Given the description of an element on the screen output the (x, y) to click on. 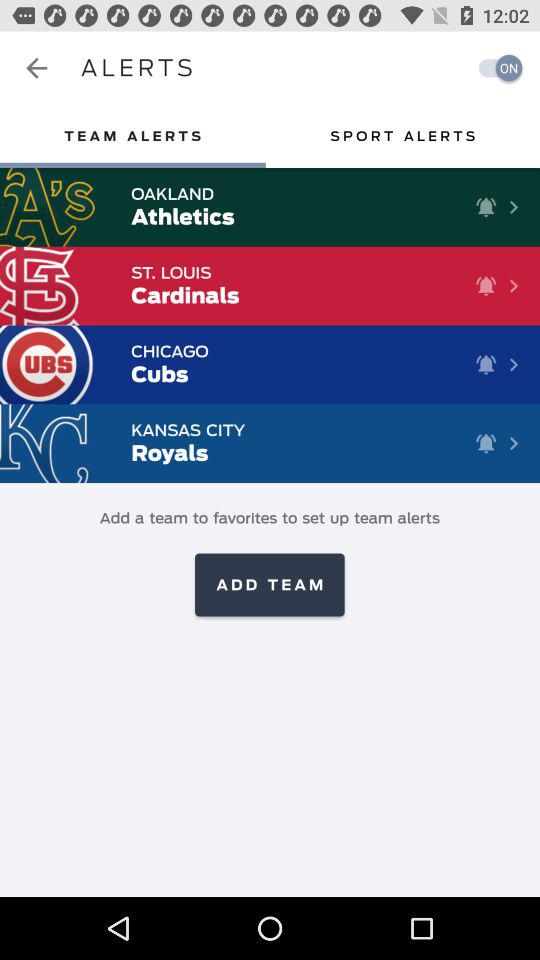
alerts on (495, 67)
